Given the description of an element on the screen output the (x, y) to click on. 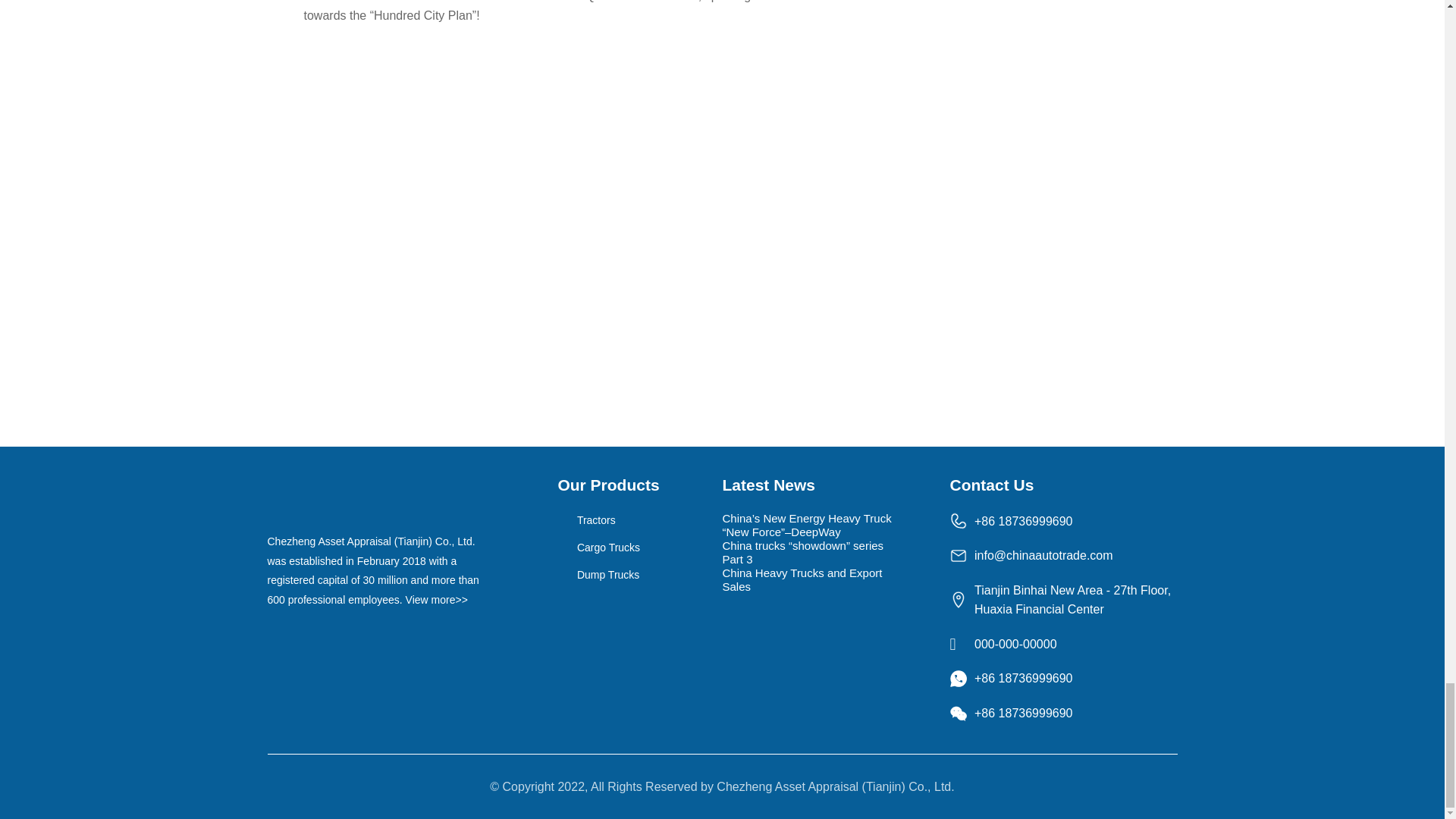
Tractors (608, 519)
Cargo Trucks (608, 547)
